Given the description of an element on the screen output the (x, y) to click on. 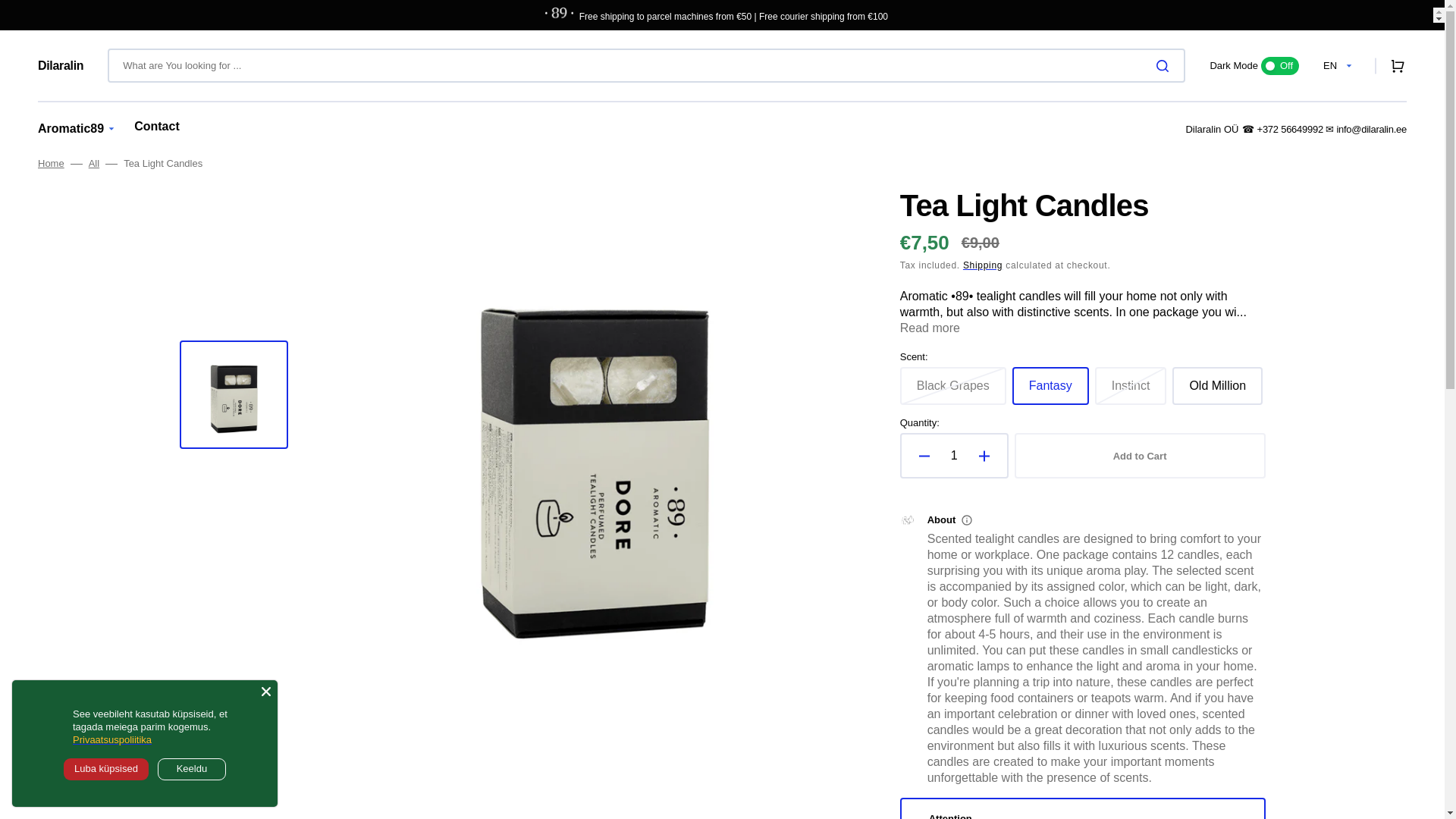
Cart (1393, 64)
Home (50, 164)
EN (1339, 64)
Contact (156, 126)
Dilaralin (59, 65)
Privaatsuspoliitika (111, 739)
Aromatic89 (70, 129)
Fantasy (1253, 64)
Contact (50, 164)
